Given the description of an element on the screen output the (x, y) to click on. 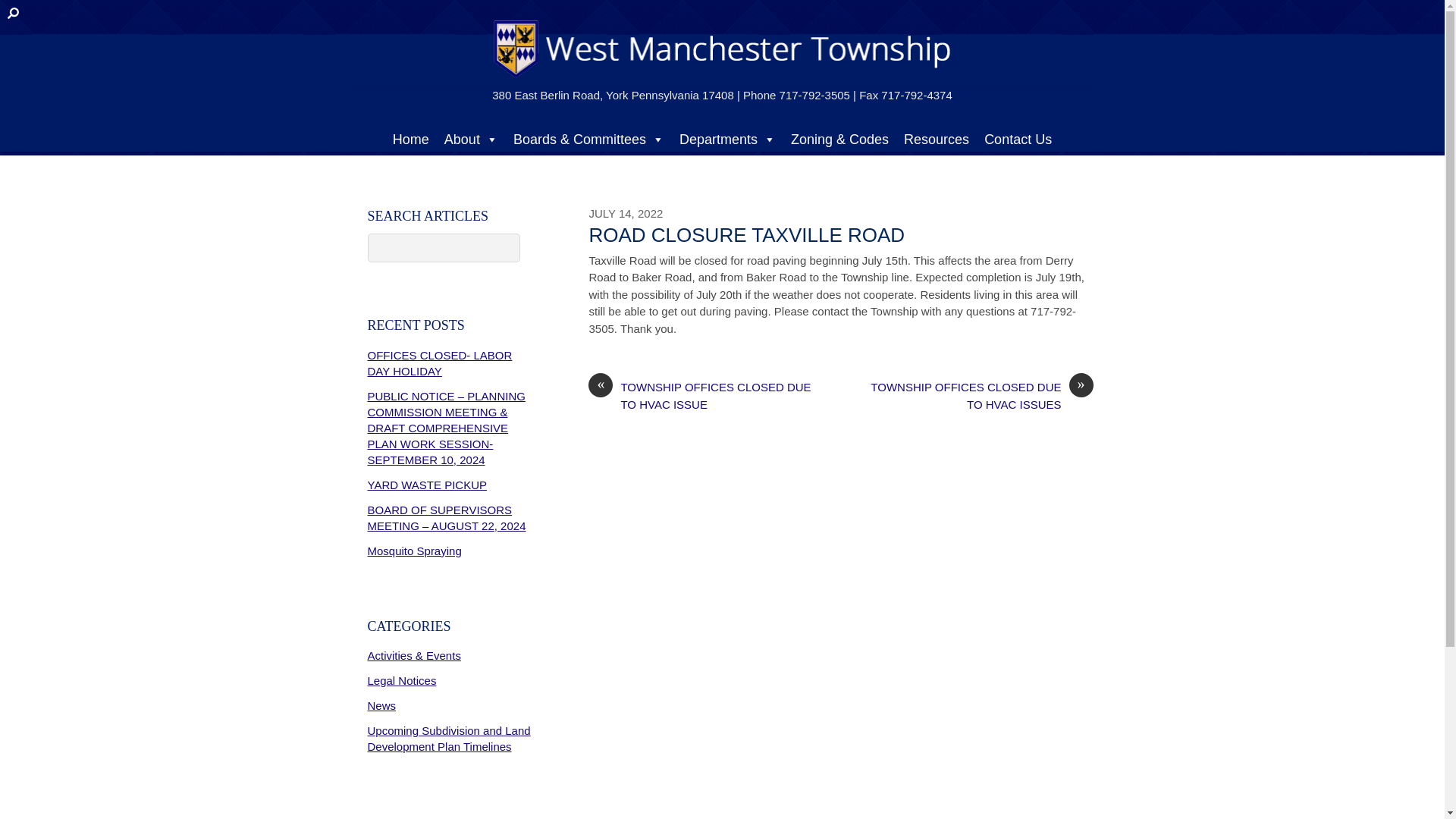
About (470, 139)
Departments (727, 139)
Contact Us (1017, 139)
News (381, 705)
Resources (936, 139)
Upcoming Subdivision and Land Development Plan Timelines (447, 737)
Legal Notices (400, 680)
West Manchester Township (719, 76)
OFFICES CLOSED- LABOR DAY HOLIDAY (439, 362)
Search (442, 247)
